Given the description of an element on the screen output the (x, y) to click on. 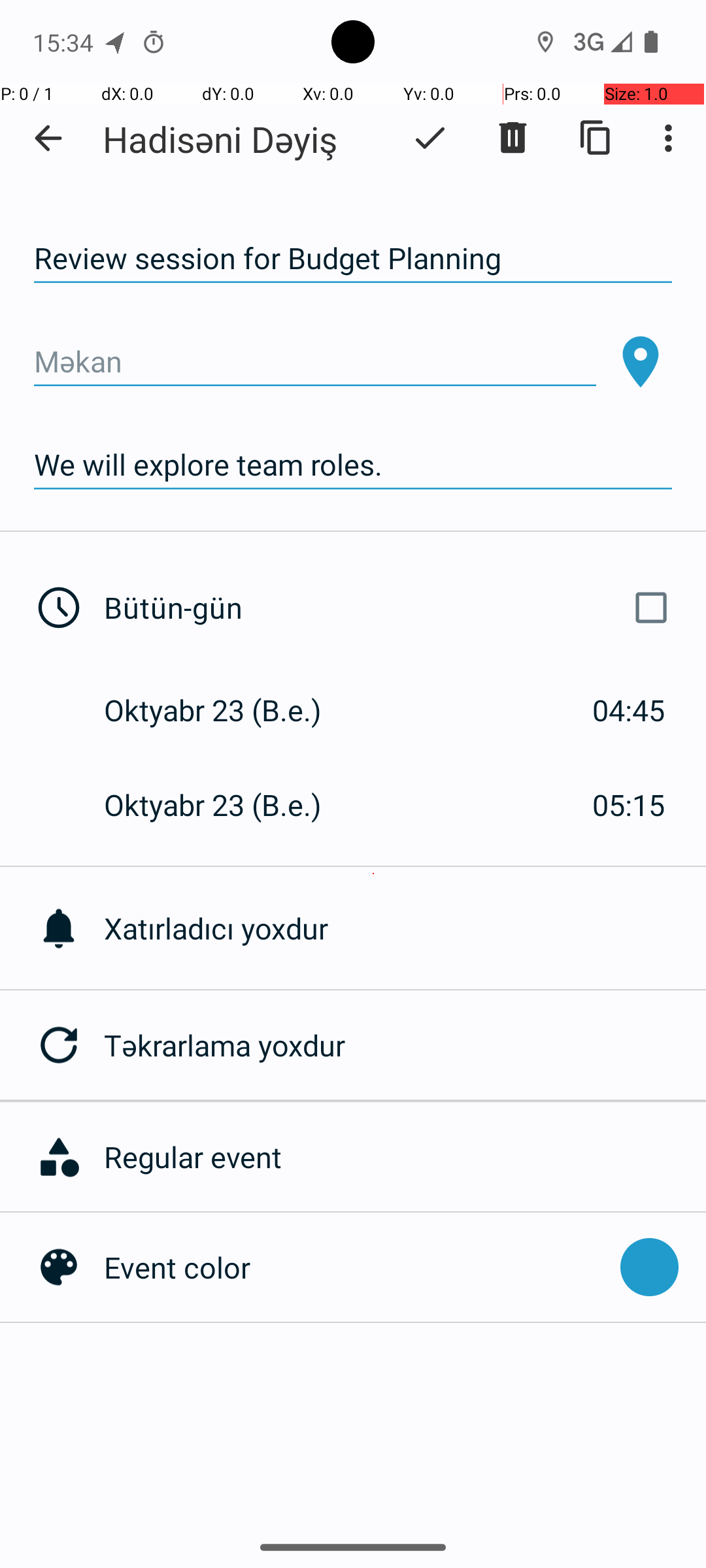
Hadisəni Dəyiş Element type: android.widget.TextView (219, 138)
Saxla Element type: android.widget.Button (429, 137)
Sil Element type: android.widget.Button (512, 137)
Digər seçimlər Element type: android.widget.ImageView (671, 137)
Məkan Element type: android.widget.EditText (314, 361)
We will explore team roles. Element type: android.widget.EditText (352, 465)
Oktyabr 23 (B.e.) Element type: android.widget.TextView (226, 709)
04:45 Element type: android.widget.TextView (628, 709)
05:15 Element type: android.widget.TextView (628, 804)
Xatırladıcı yoxdur Element type: android.widget.TextView (404, 927)
Təkrarlama yoxdur Element type: android.widget.TextView (404, 1044)
Bütün-gün Element type: android.widget.CheckBox (390, 607)
